Given the description of an element on the screen output the (x, y) to click on. 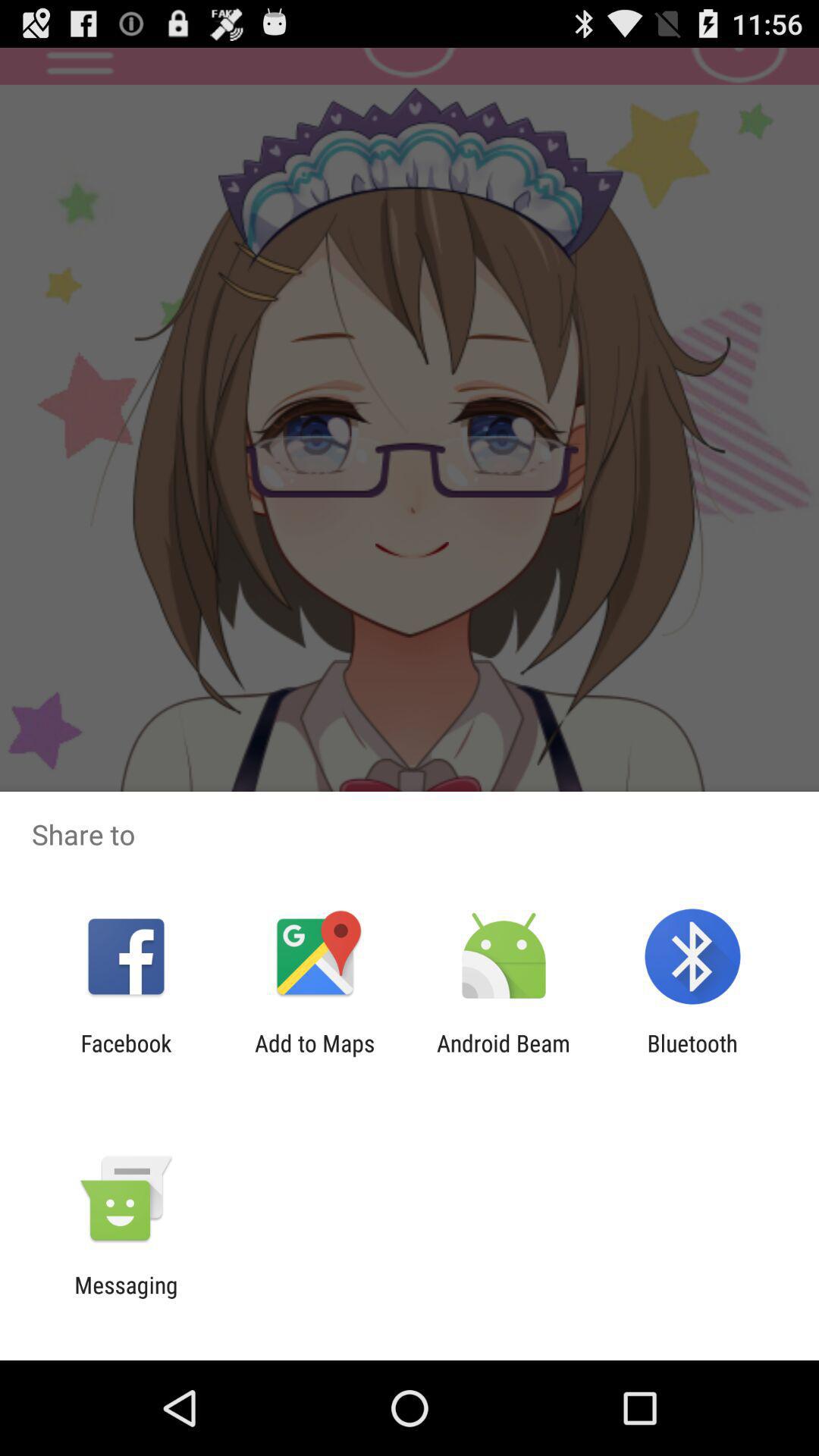
open the app next to add to maps (503, 1056)
